Given the description of an element on the screen output the (x, y) to click on. 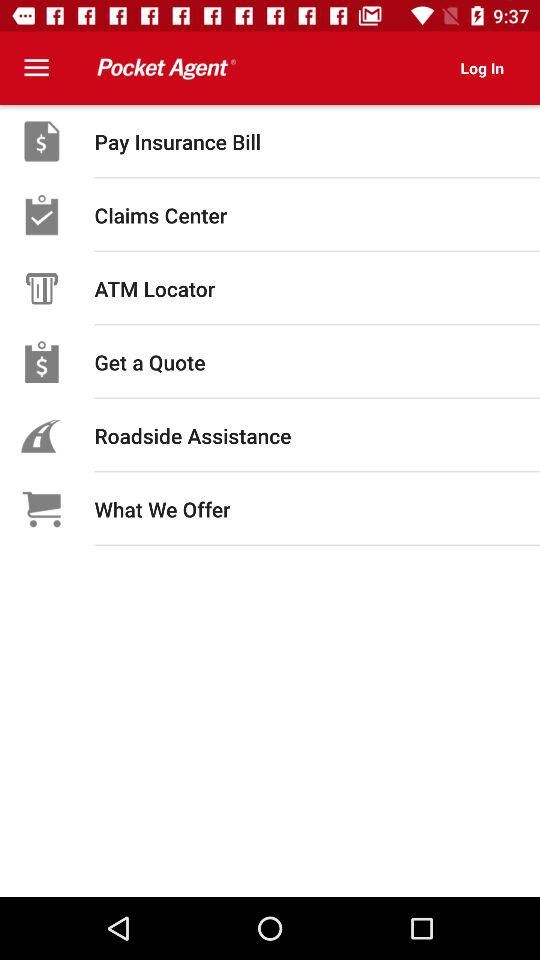
tap the log in (482, 68)
